Given the description of an element on the screen output the (x, y) to click on. 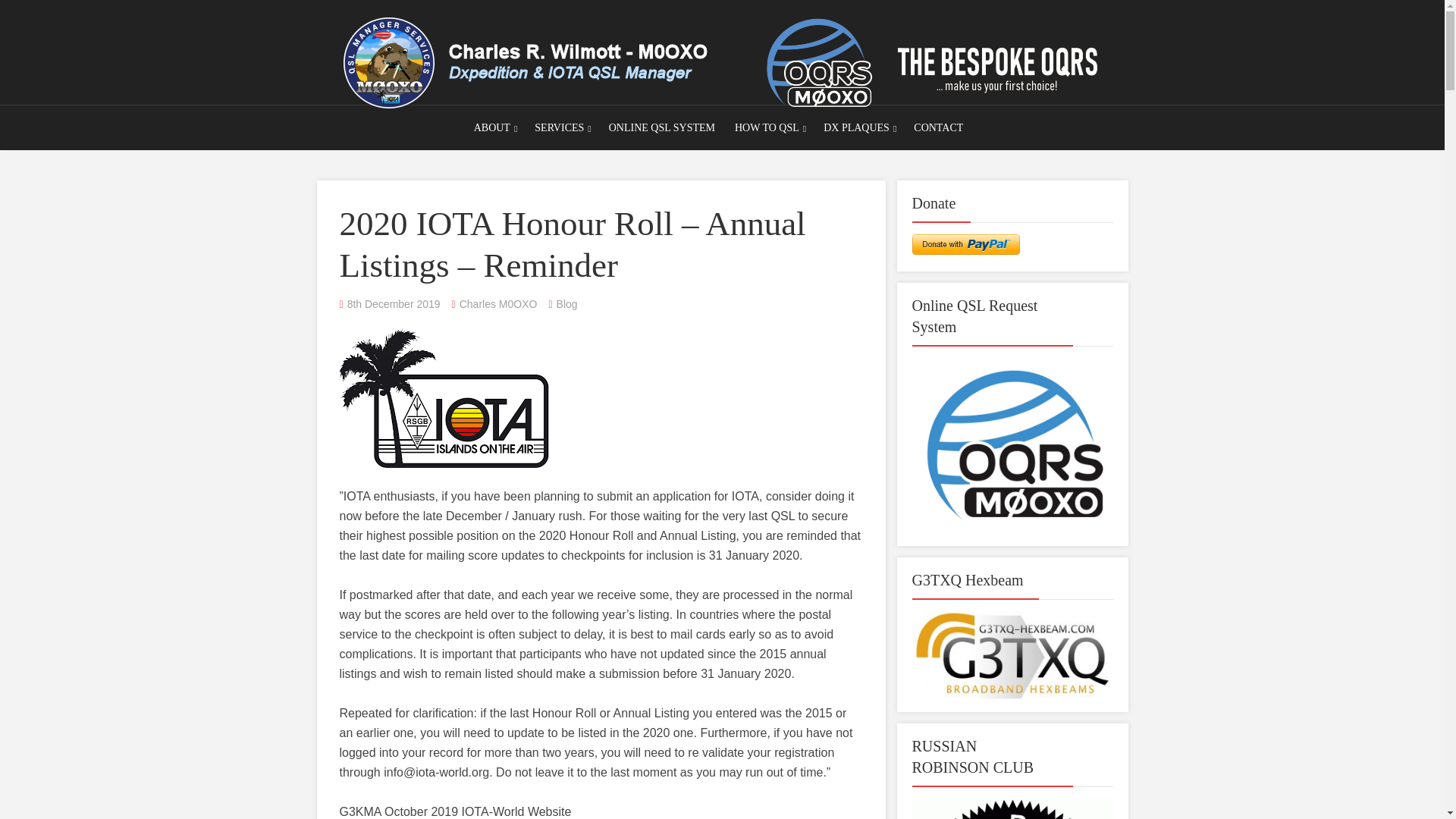
M0OXO (721, 59)
